Given the description of an element on the screen output the (x, y) to click on. 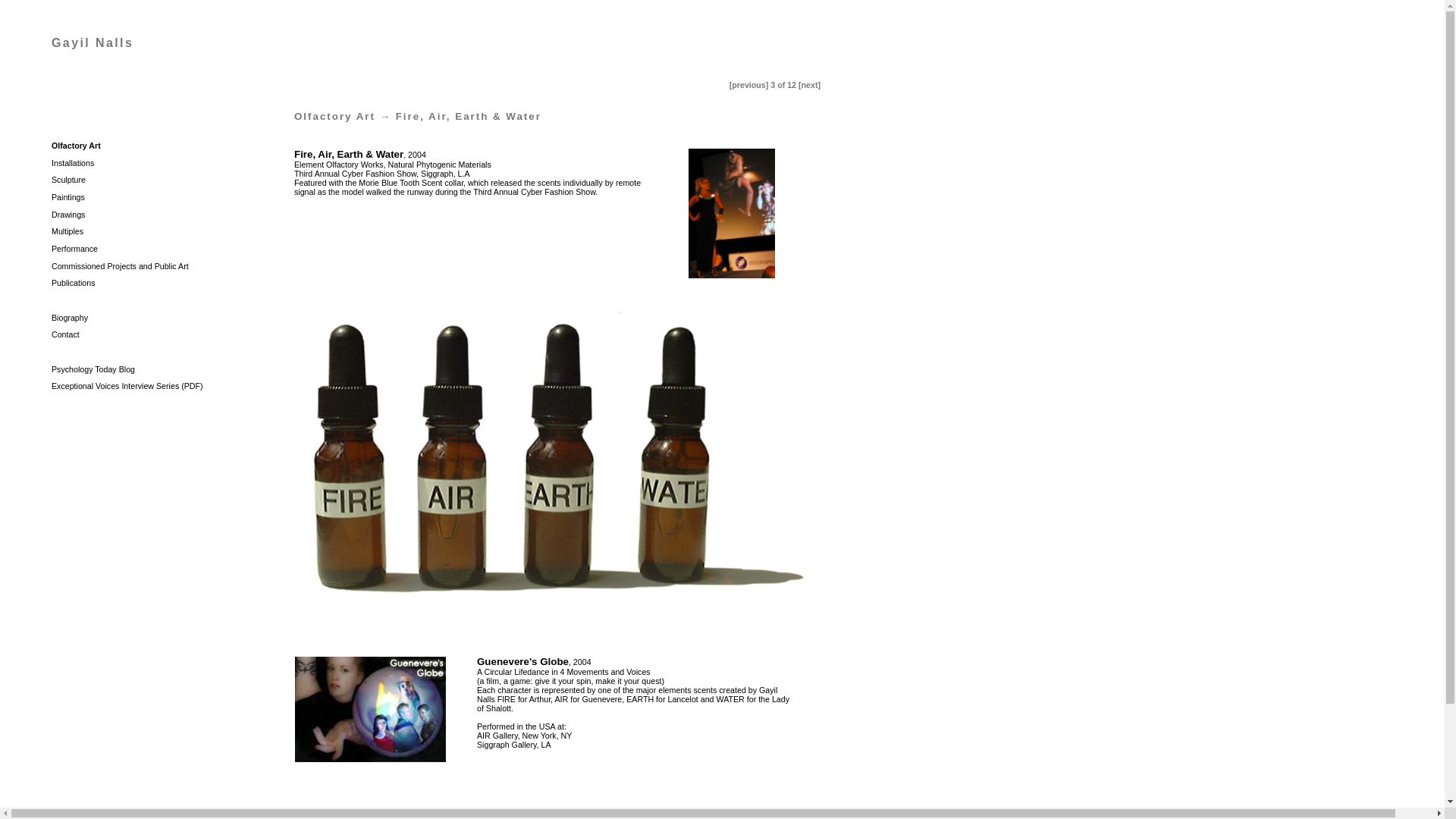
Drawings (67, 214)
Biography (68, 317)
Multiples (66, 230)
Gayil Nalls (91, 42)
Publications (72, 282)
Olfactory Art (75, 144)
Olfactory Art (334, 116)
Paintings (67, 196)
Sculpture (67, 179)
Performance (73, 248)
